Given the description of an element on the screen output the (x, y) to click on. 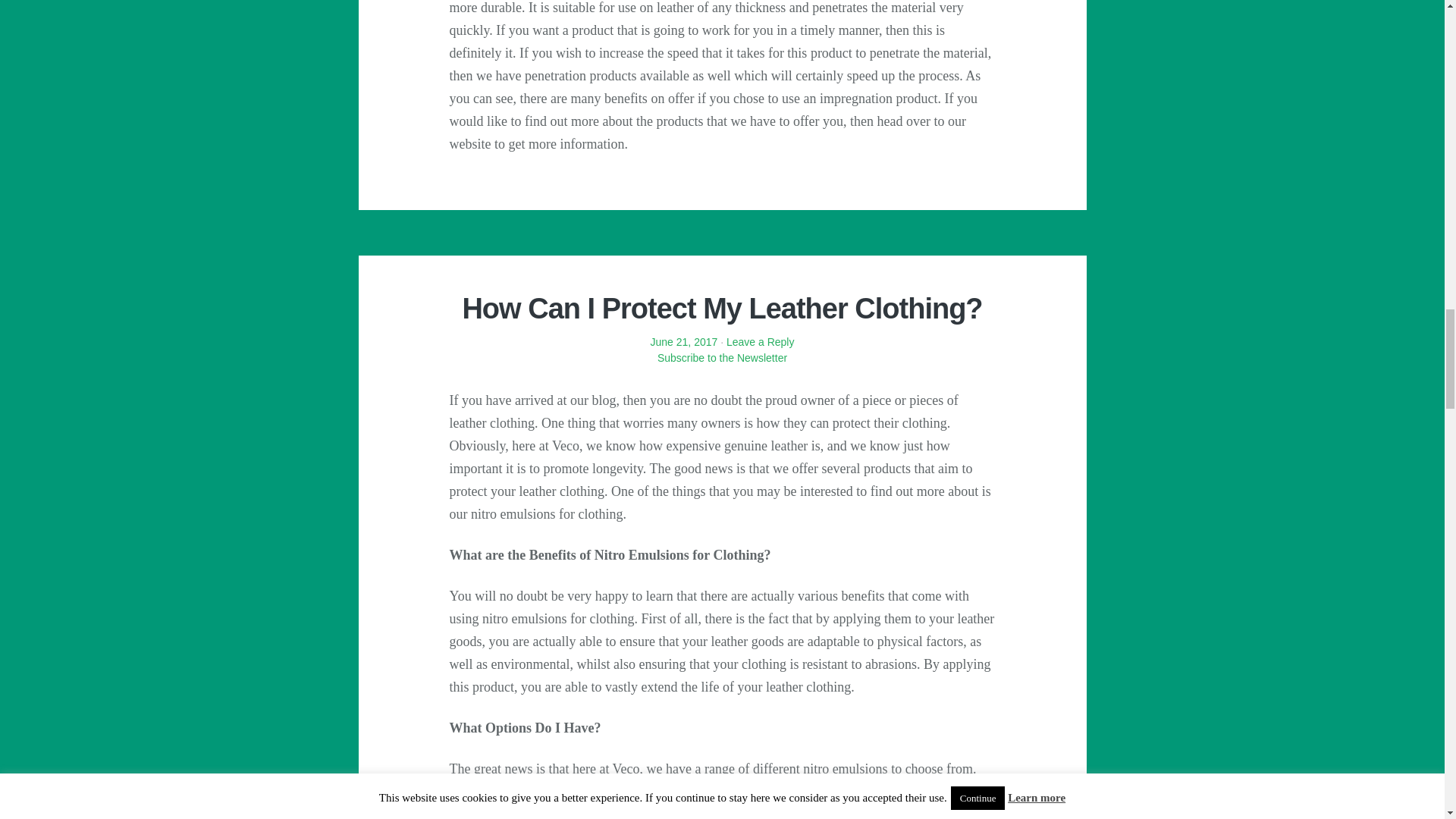
Subscribe to the Newsletter (721, 365)
Leave a Reply (760, 341)
How Can I Protect My Leather Clothing? (721, 308)
June 21, 2017 (683, 341)
